Given the description of an element on the screen output the (x, y) to click on. 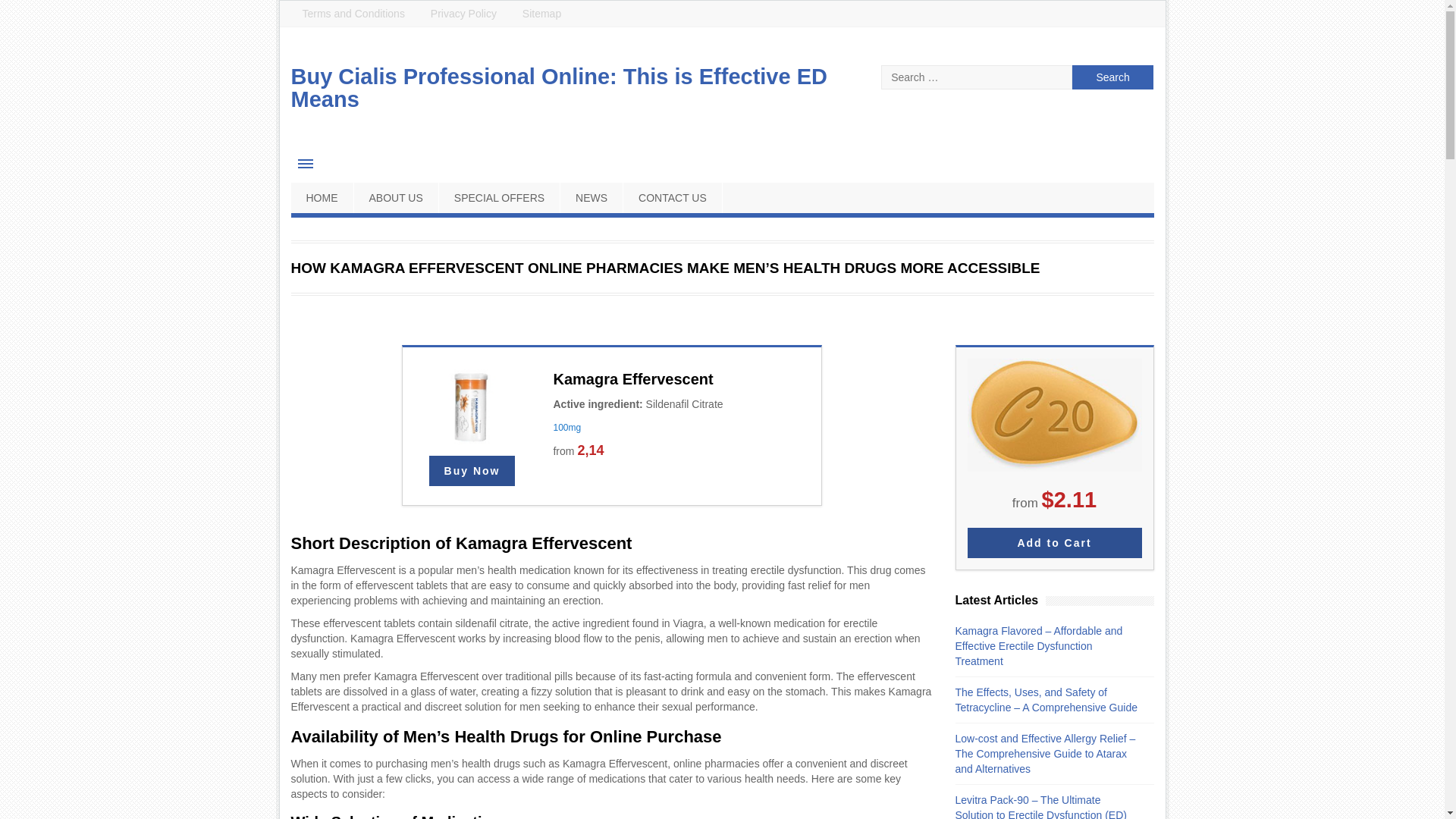
Cialis Professional (1053, 542)
Search (1112, 77)
HOME (322, 197)
Sitemap (541, 13)
CONTACT US (672, 197)
Menu (306, 163)
Add to Cart (1053, 542)
Terms and Conditions (353, 13)
ABOUT US (395, 197)
Buy Cialis Professional Online: This is Effective ED Means (559, 87)
Buy Now (472, 470)
Buy Cialis Professional Online: This is Effective ED Means (559, 87)
SPECIAL OFFERS (499, 197)
NEWS (591, 197)
Privacy Policy (463, 13)
